Given the description of an element on the screen output the (x, y) to click on. 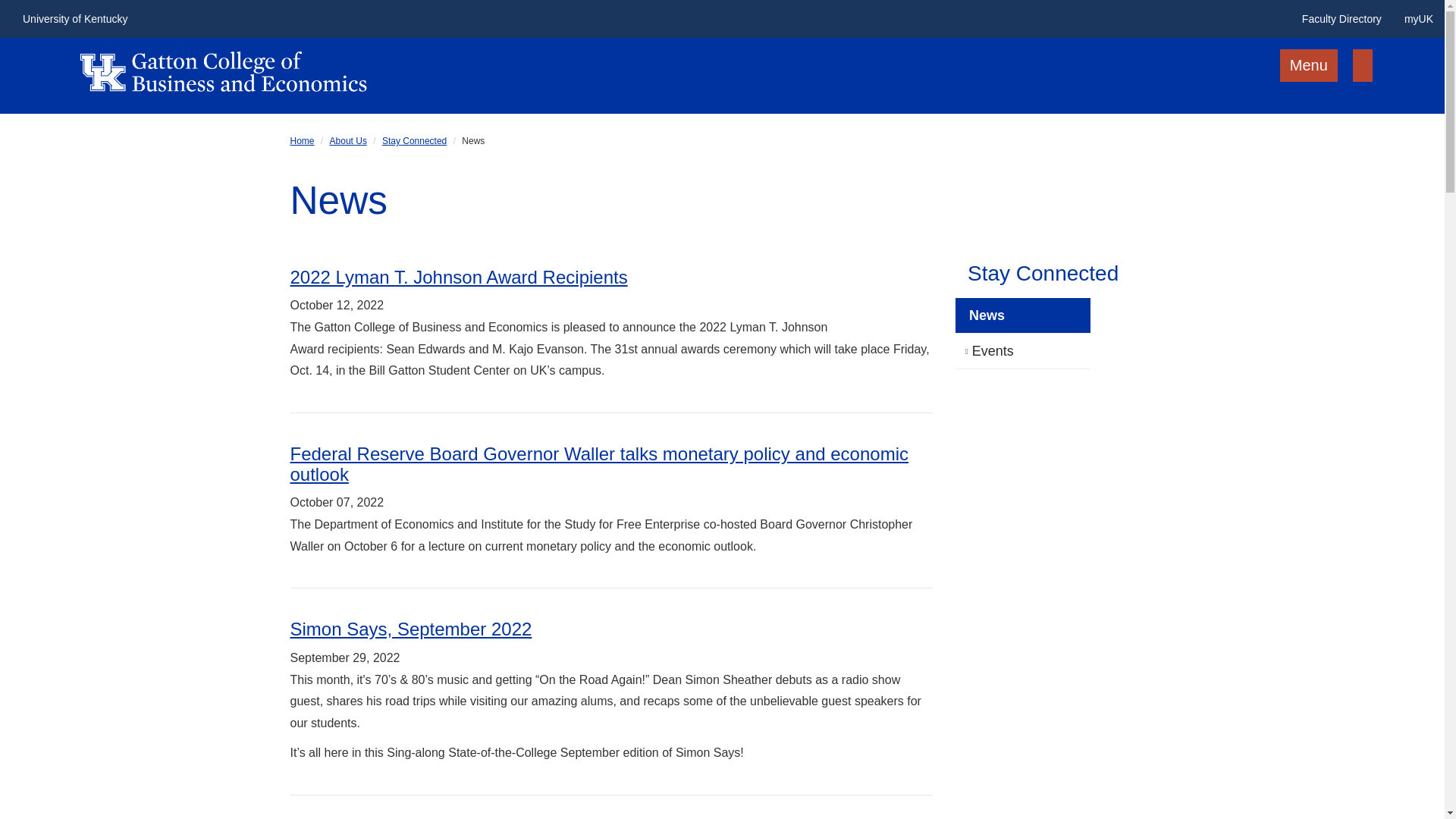
Menu (1308, 65)
UK Gatton College of Business and Economics (223, 63)
News (1022, 315)
Simon Says, September 2022 (410, 629)
Home (301, 140)
Stay Connected (413, 140)
Events (1022, 351)
Faculty Directory (1341, 18)
2022 Lyman T. Johnson Award Recipients (458, 276)
About Us (348, 140)
University of Kentucky (75, 18)
Stay Connected (1061, 273)
